Given the description of an element on the screen output the (x, y) to click on. 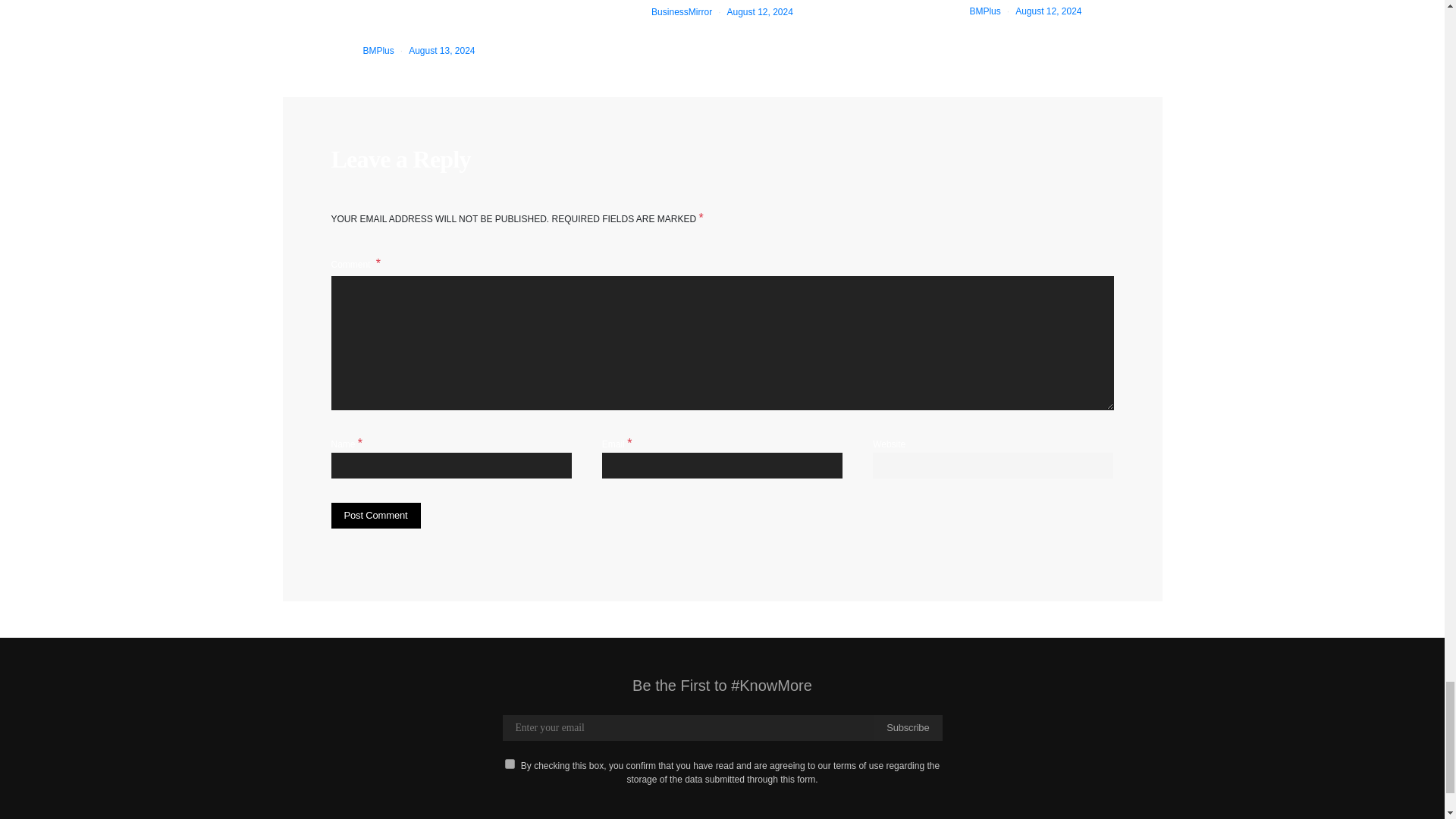
View all posts by BusinessMirror (680, 11)
on (510, 764)
Post Comment (375, 515)
View all posts by BMPlus (984, 10)
View all posts by BMPlus (377, 50)
